Given the description of an element on the screen output the (x, y) to click on. 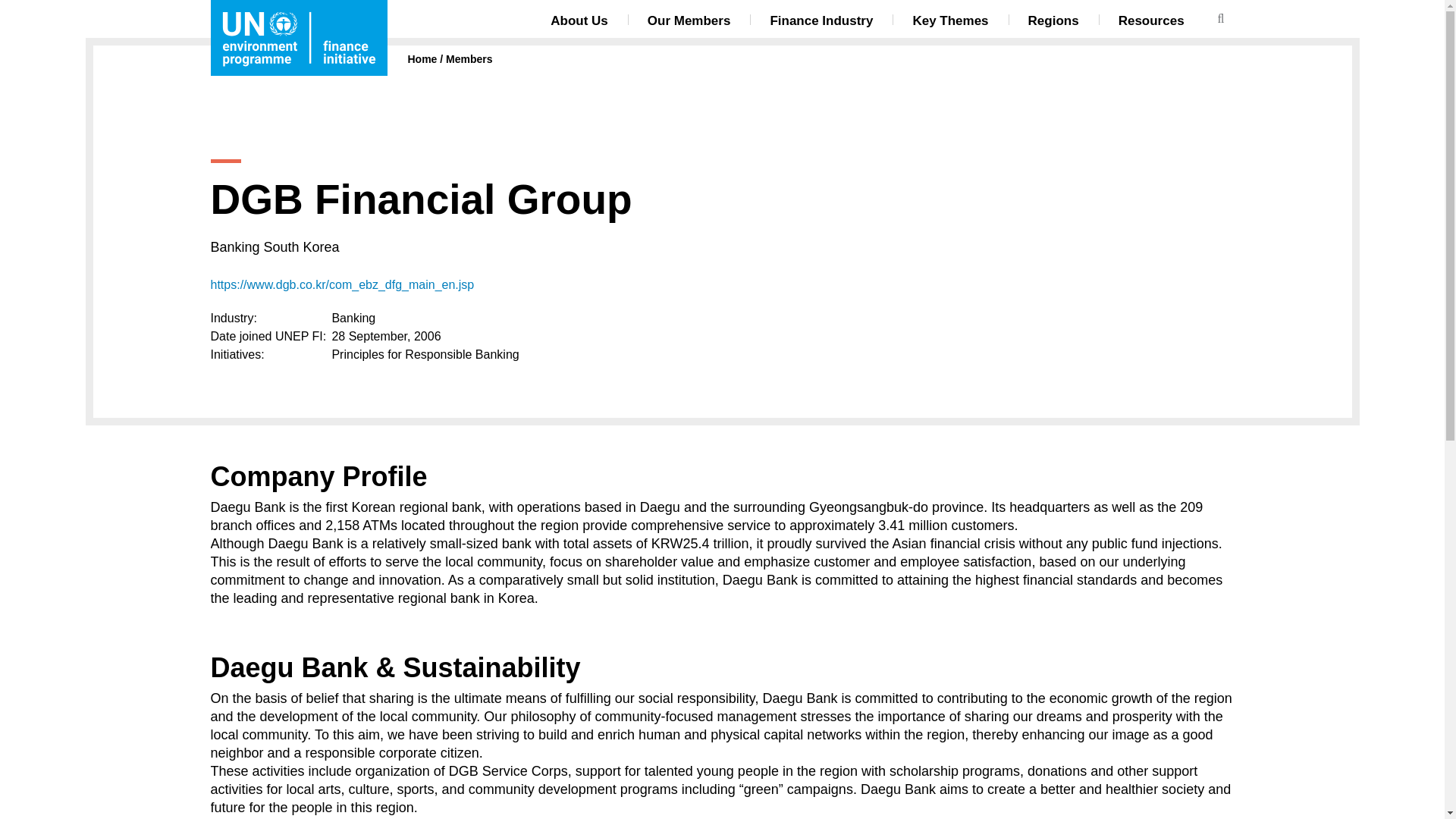
Our Members (689, 20)
Finance Industry (820, 20)
About Us (579, 20)
Search (1219, 18)
